Given the description of an element on the screen output the (x, y) to click on. 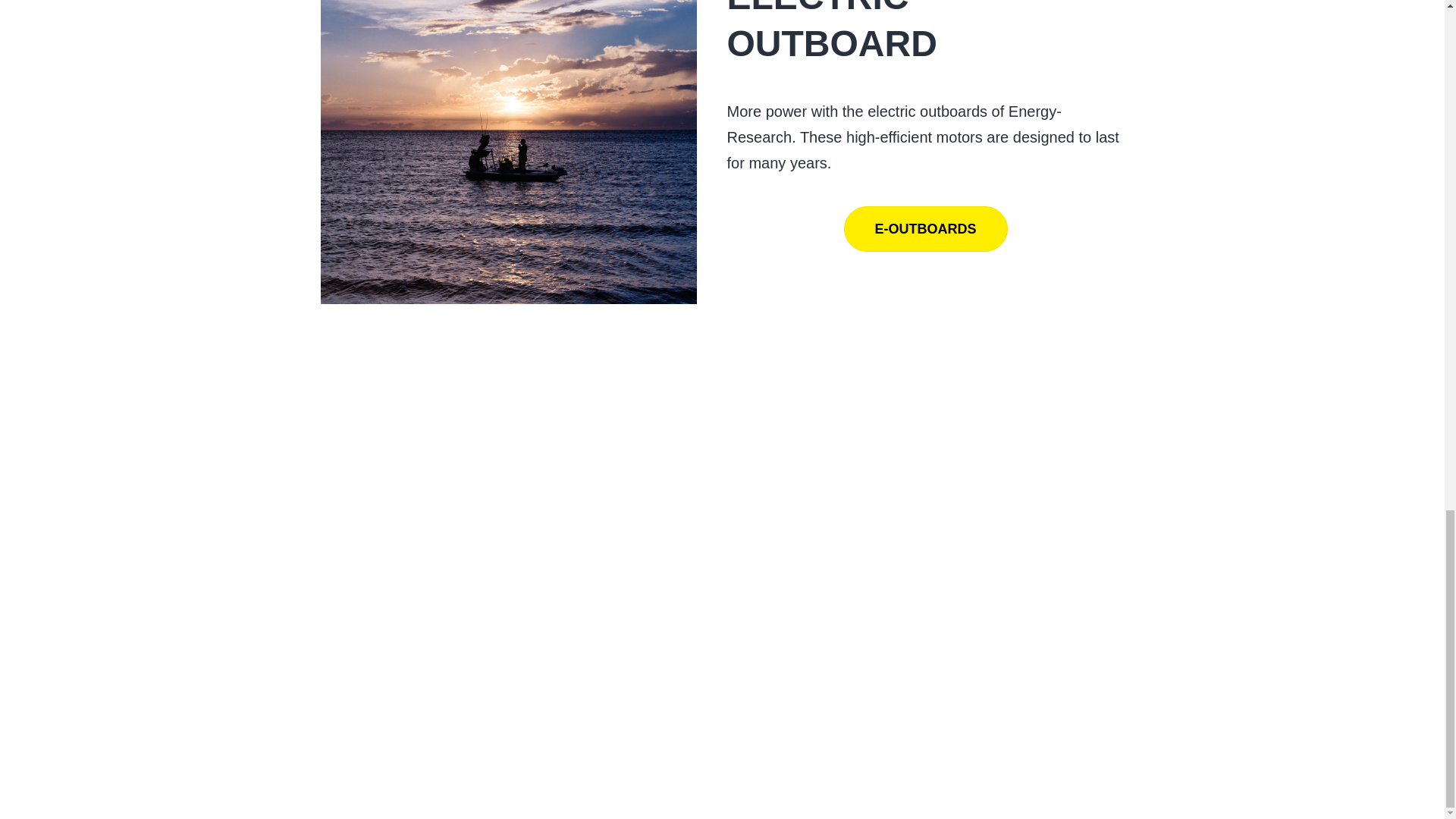
E-OUTBOARDS (925, 228)
Untitled-11 (507, 151)
